Given the description of an element on the screen output the (x, y) to click on. 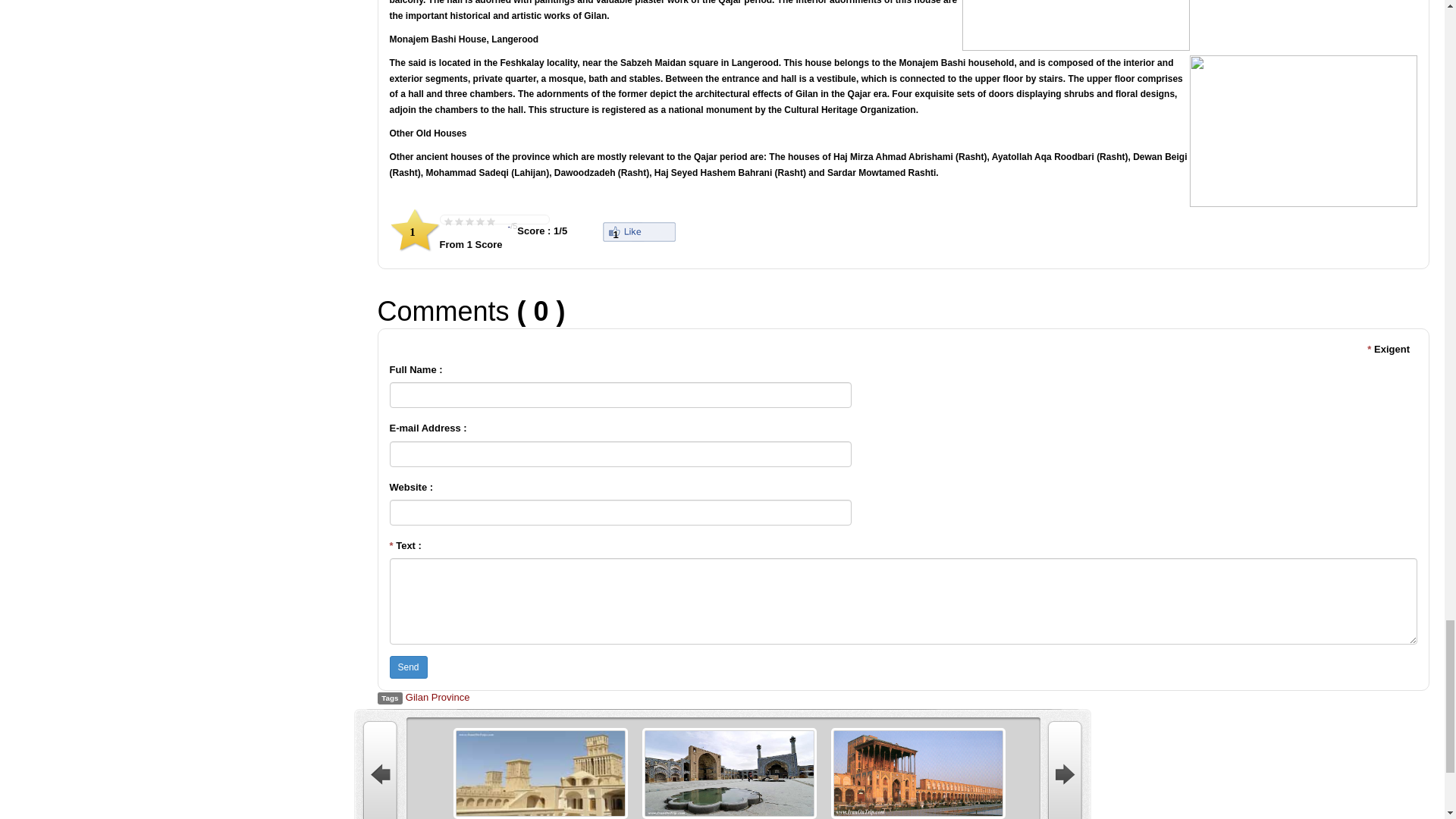
  Send   (409, 667)
